Given the description of an element on the screen output the (x, y) to click on. 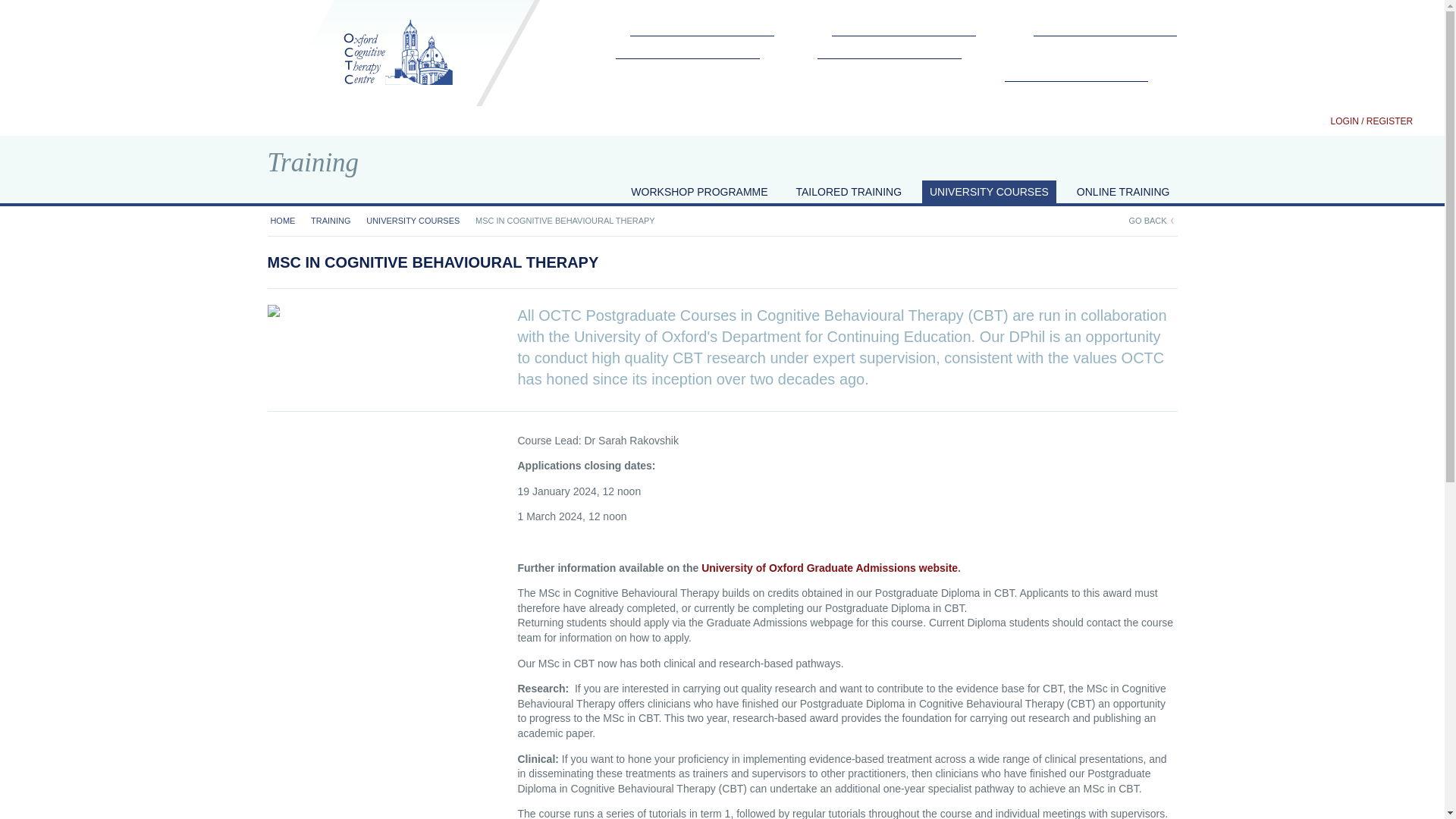
TRAINING (702, 24)
GO BACK (1151, 220)
CONTACT US (875, 69)
THERAPY (673, 69)
HOME (282, 220)
TWITTER (1316, 121)
PUBLICATIONS (1091, 47)
UNIVERSITY COURSES (413, 220)
SUPERVISION (888, 47)
site search (1424, 121)
University of Oxford Graduate Admissions website (829, 567)
UNIVERSITY COURSES (989, 195)
ONLINE TRAINING (1122, 195)
SEARCH (1424, 121)
ABOUT US (903, 24)
